Given the description of an element on the screen output the (x, y) to click on. 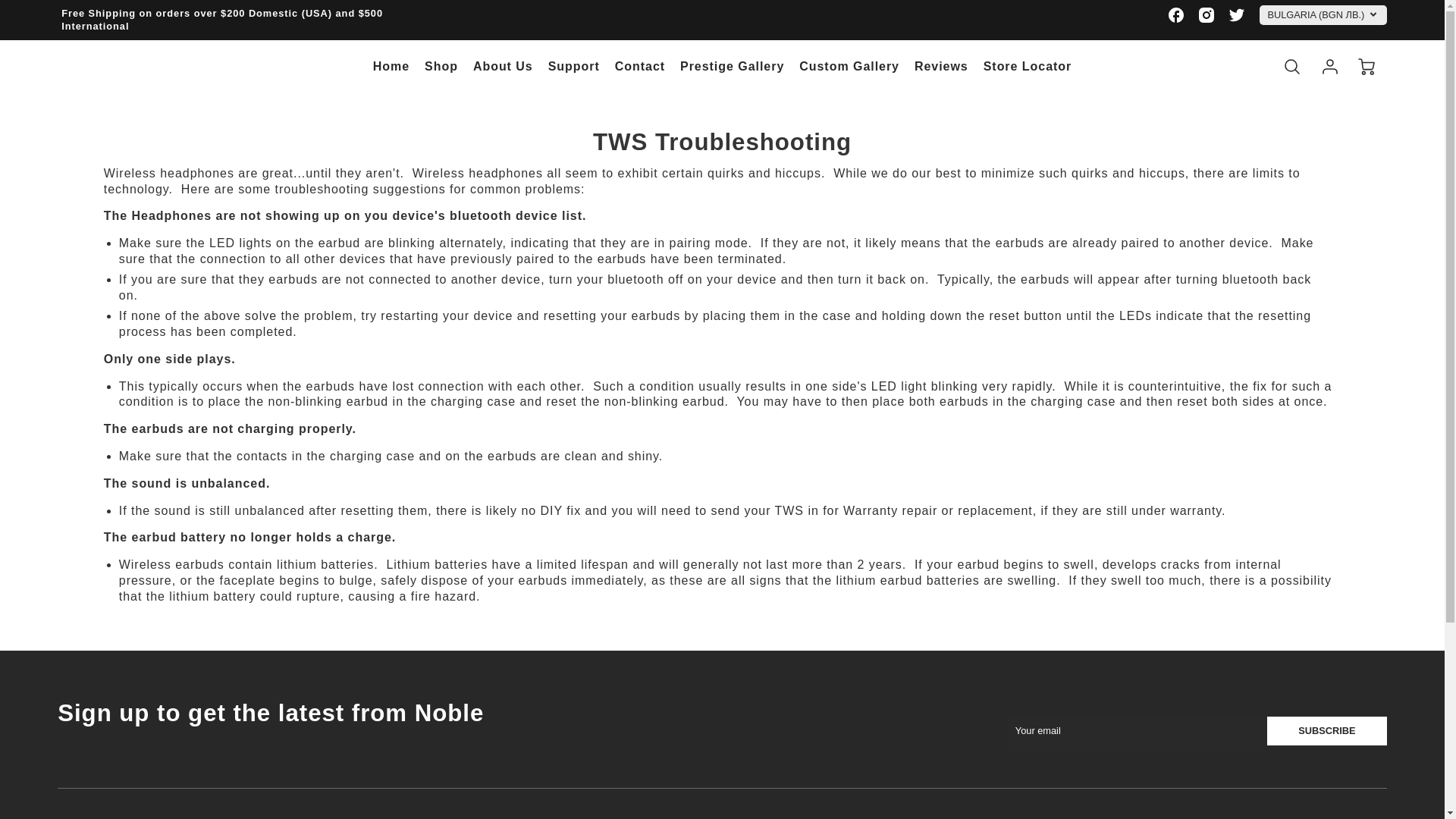
Noble Audio on Instagram (1206, 15)
Noble Audio on Twitter (1236, 15)
Noble Audio on Facebook (1176, 15)
